Given the description of an element on the screen output the (x, y) to click on. 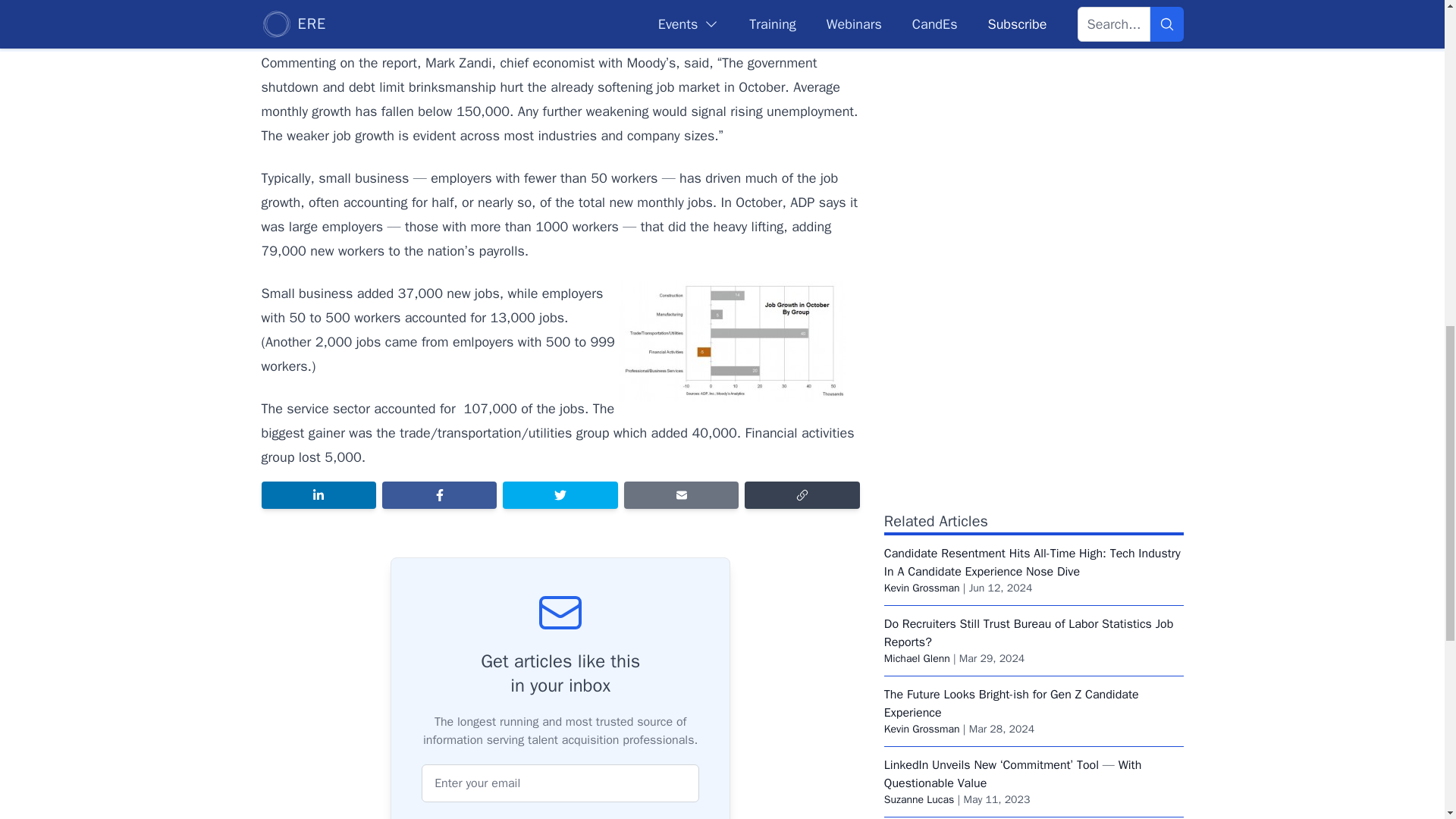
The Future Looks Bright-ish for Gen Z Candidate Experience (1010, 703)
Suzanne Lucas (919, 799)
Kevin Grossman (921, 587)
Kevin Grossman (921, 728)
Michael Glenn (916, 658)
